Given the description of an element on the screen output the (x, y) to click on. 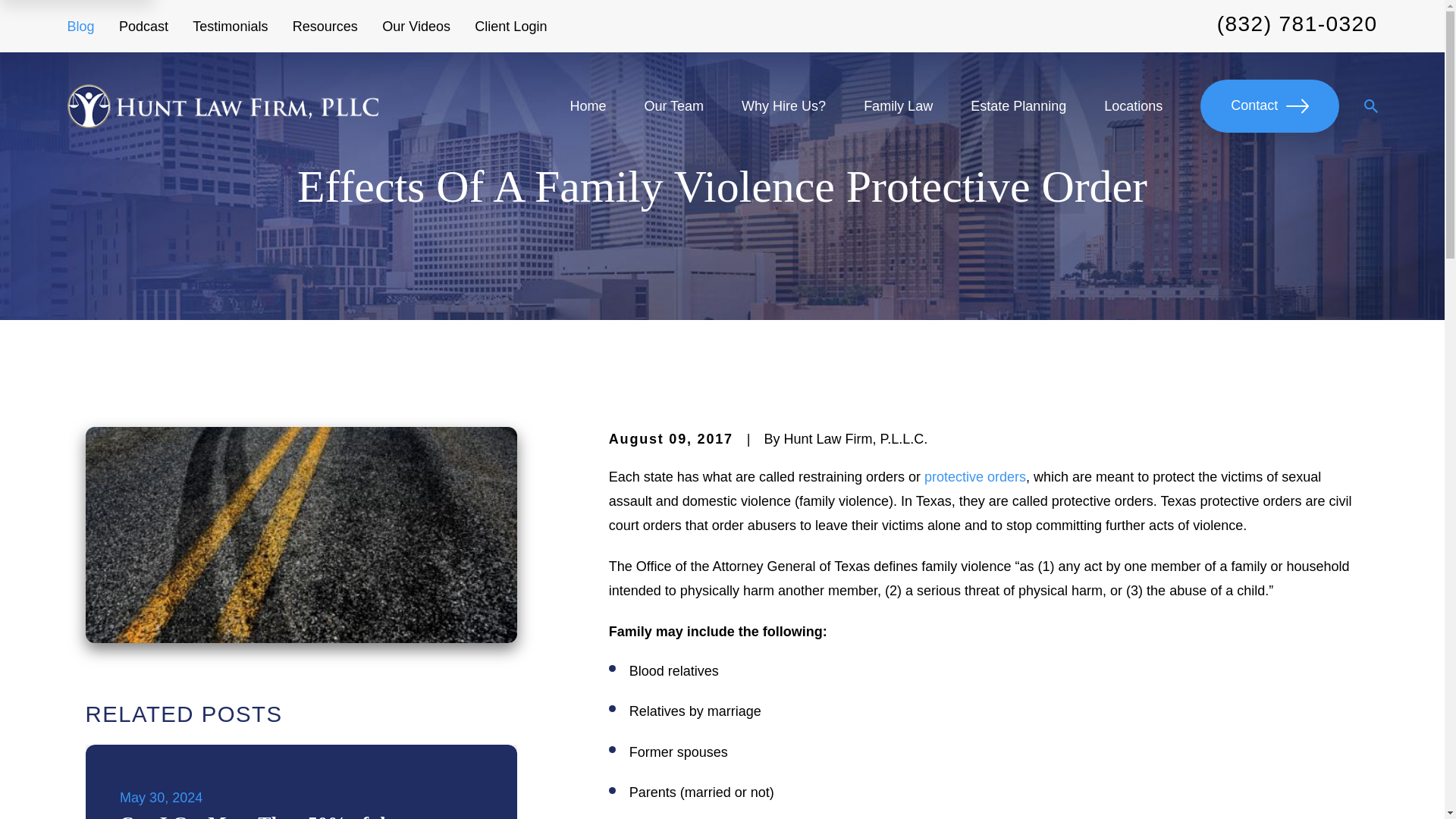
Our Team (673, 105)
Blog (80, 25)
Podcast (143, 25)
Family Law (898, 105)
Testimonials (229, 25)
Home (221, 105)
Our Videos (415, 25)
Why Hire Us? (783, 105)
Client Login (510, 25)
Resources (325, 25)
